Given the description of an element on the screen output the (x, y) to click on. 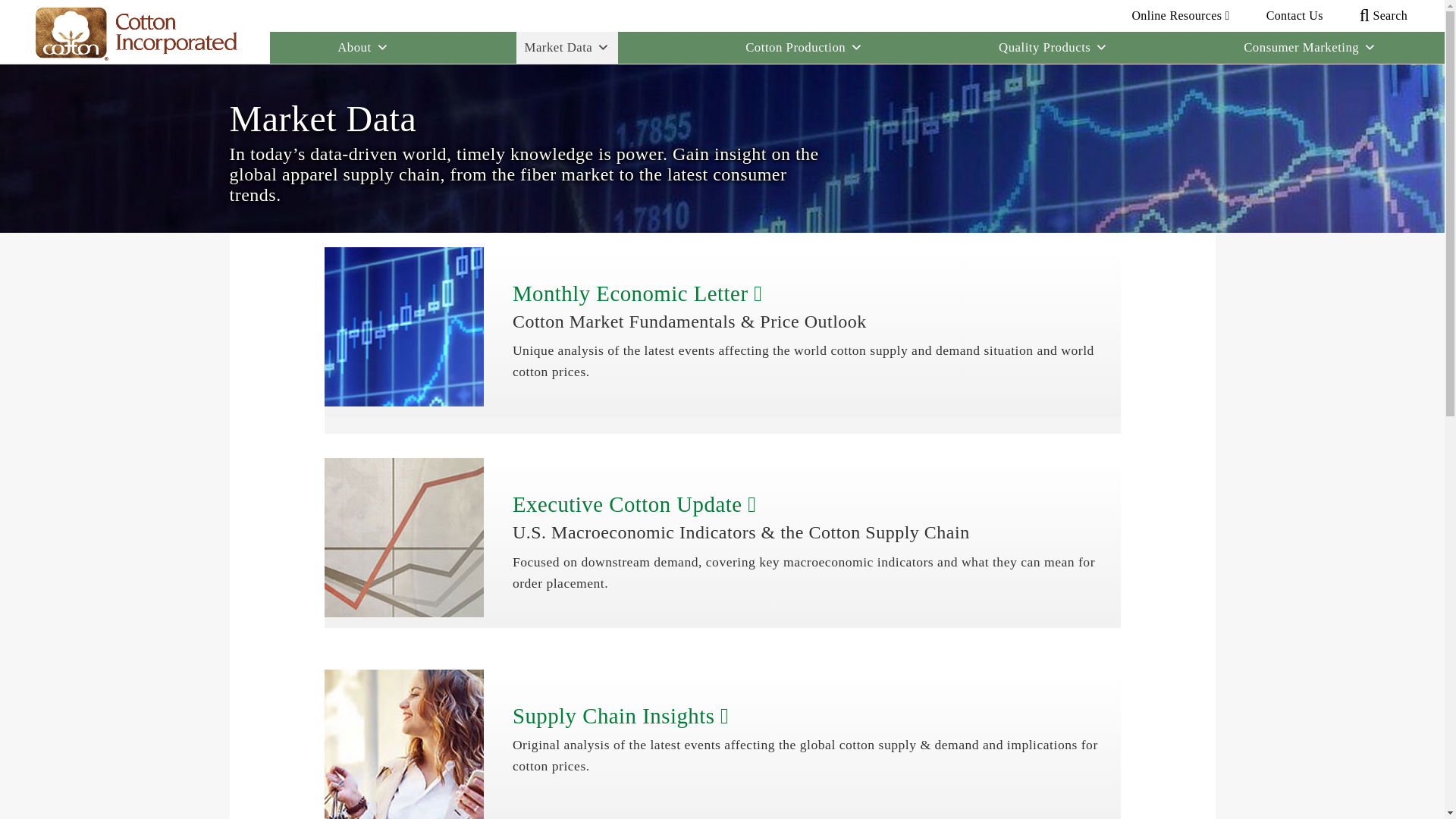
About (363, 47)
ecu 210 - Market Data (403, 537)
Contact Us (1294, 15)
Online Resources  (1179, 15)
insights 210 - Market Data (403, 744)
mel 210 - Market Data (403, 326)
